Given the description of an element on the screen output the (x, y) to click on. 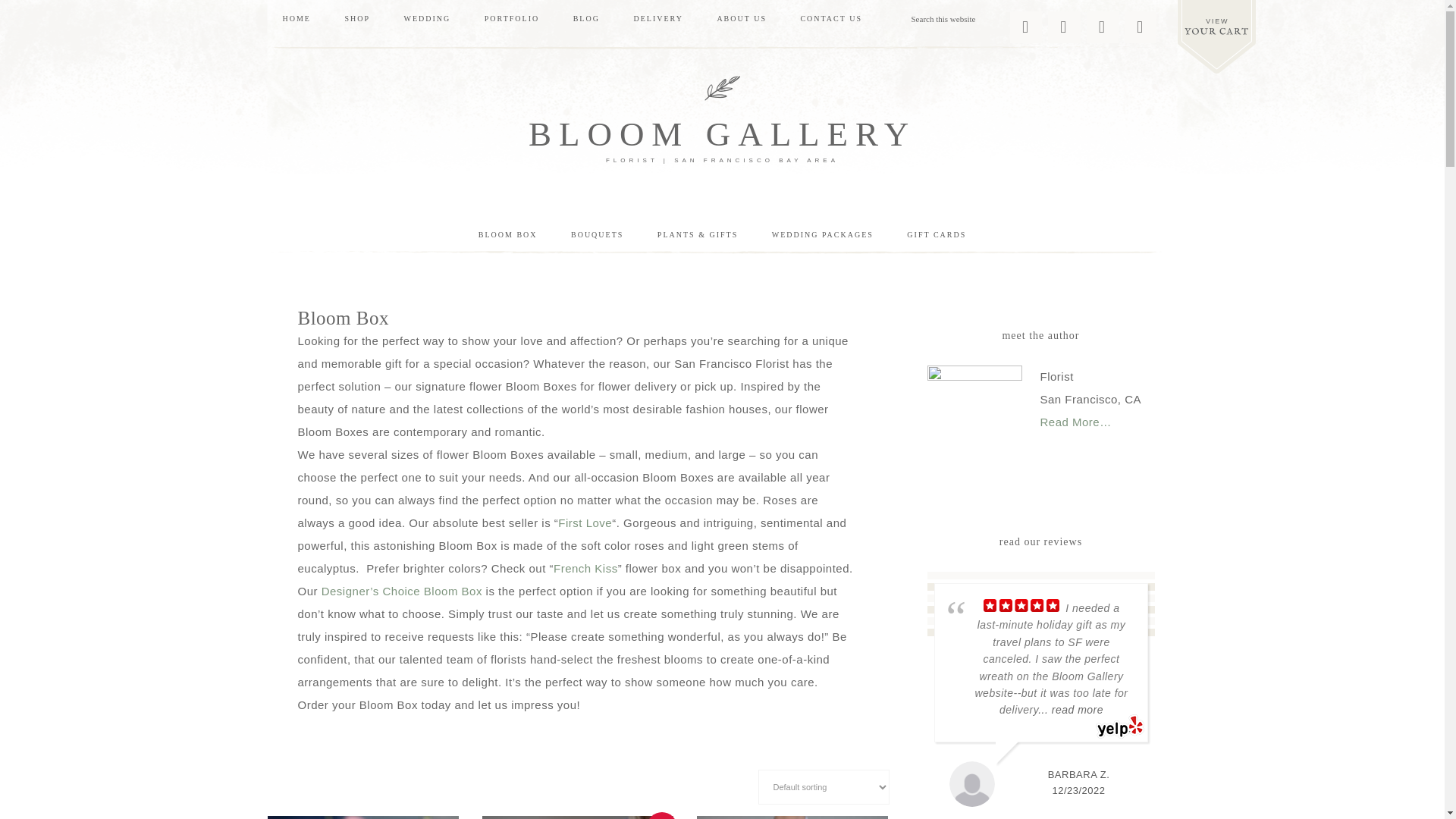
BOUQUETS (597, 234)
SHOP (357, 18)
BLOOM GALLERY (721, 134)
PORTFOLIO (511, 18)
WEDDING (426, 18)
BLOOM BOX (508, 234)
GIFT CARDS (936, 234)
First Love (584, 522)
ABOUT US (741, 18)
DELIVERY (657, 18)
BLOG (585, 18)
HOME (295, 18)
French Kiss (585, 567)
